Given the description of an element on the screen output the (x, y) to click on. 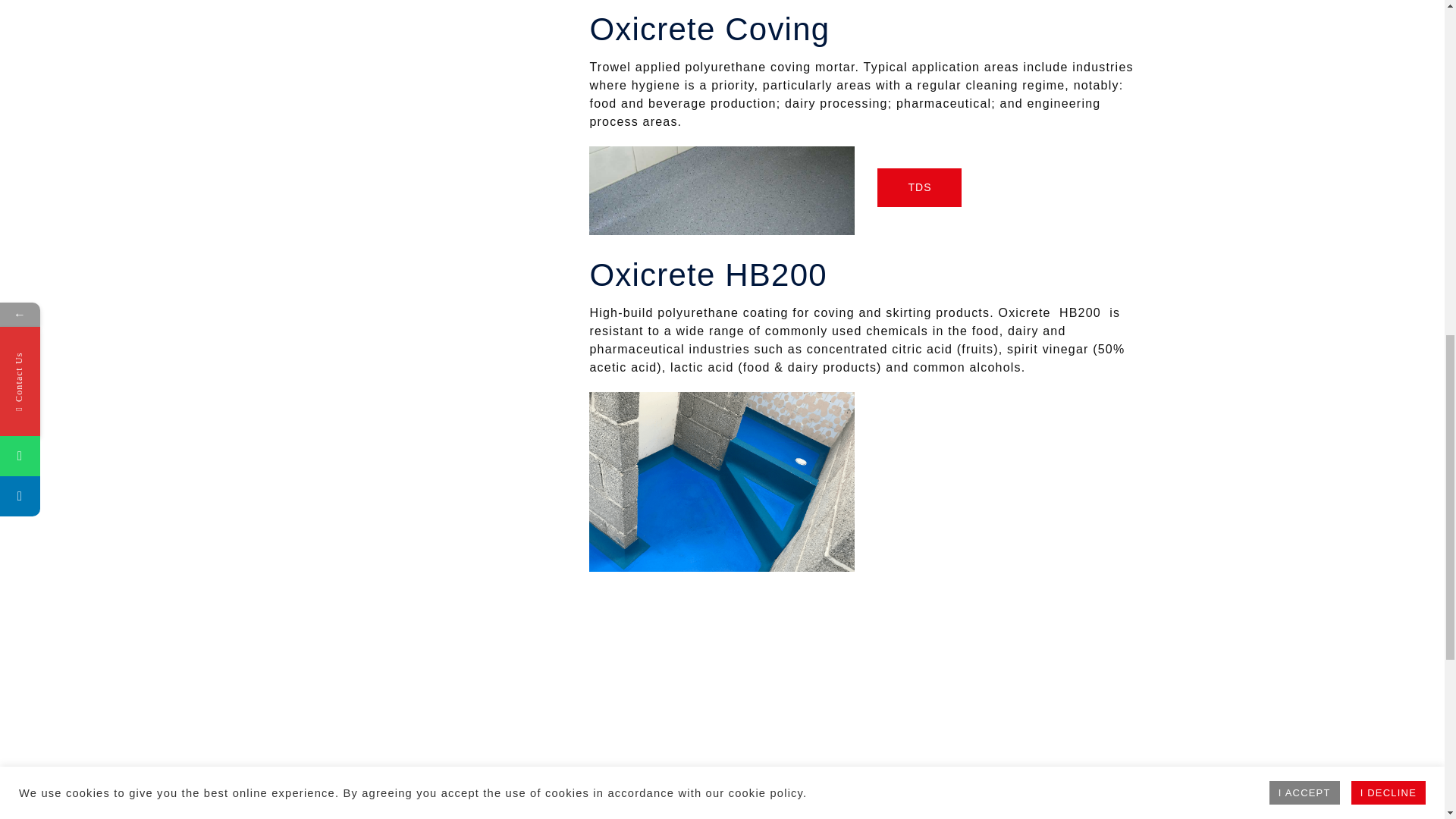
TDS (918, 187)
